Given the description of an element on the screen output the (x, y) to click on. 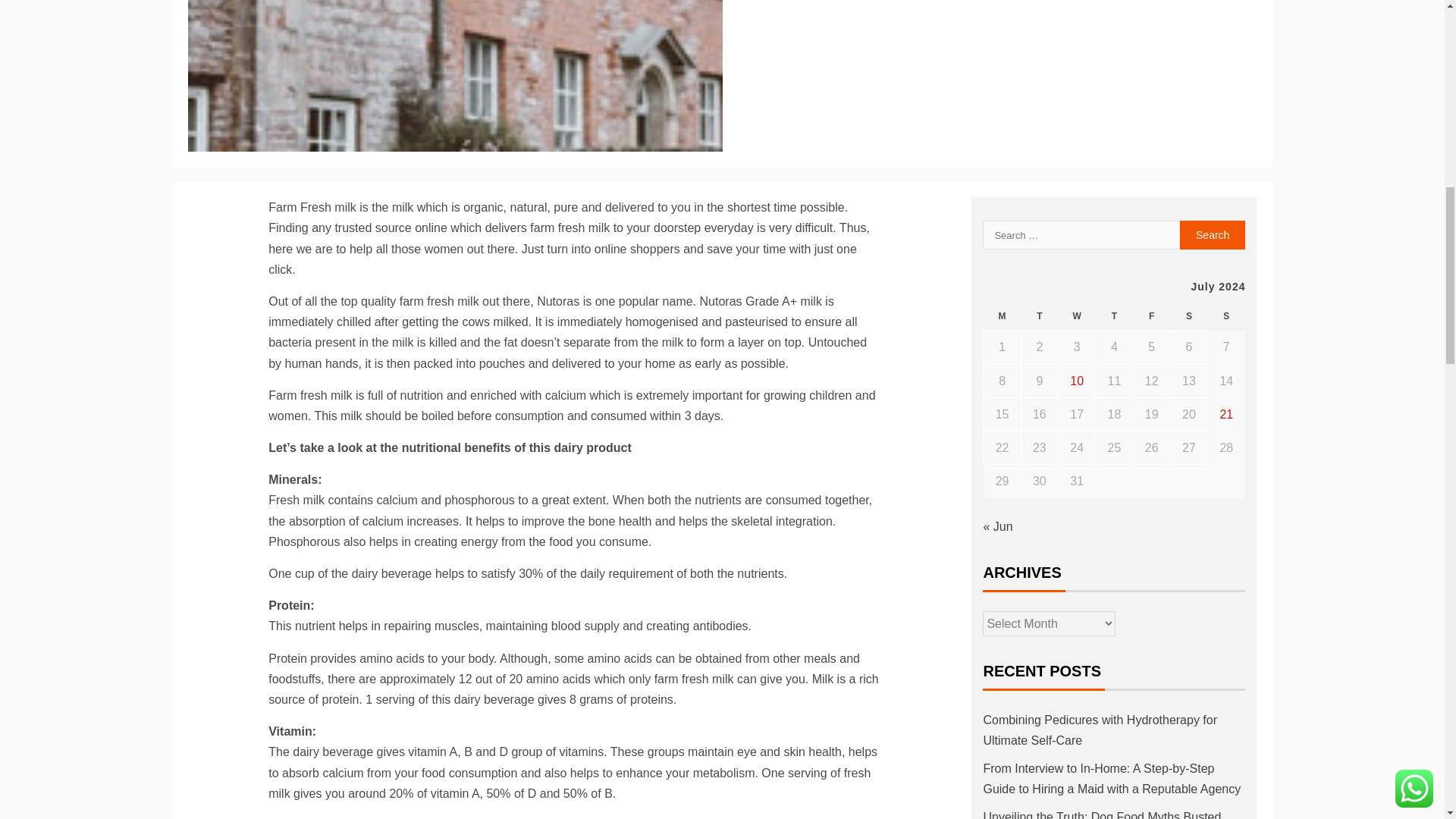
Monday (1002, 316)
Wednesday (1077, 316)
Friday (1151, 316)
Search (1212, 234)
Quality Products for Quality Lifestyle (454, 75)
Thursday (1114, 316)
Tuesday (1039, 316)
Search (1212, 234)
